Given the description of an element on the screen output the (x, y) to click on. 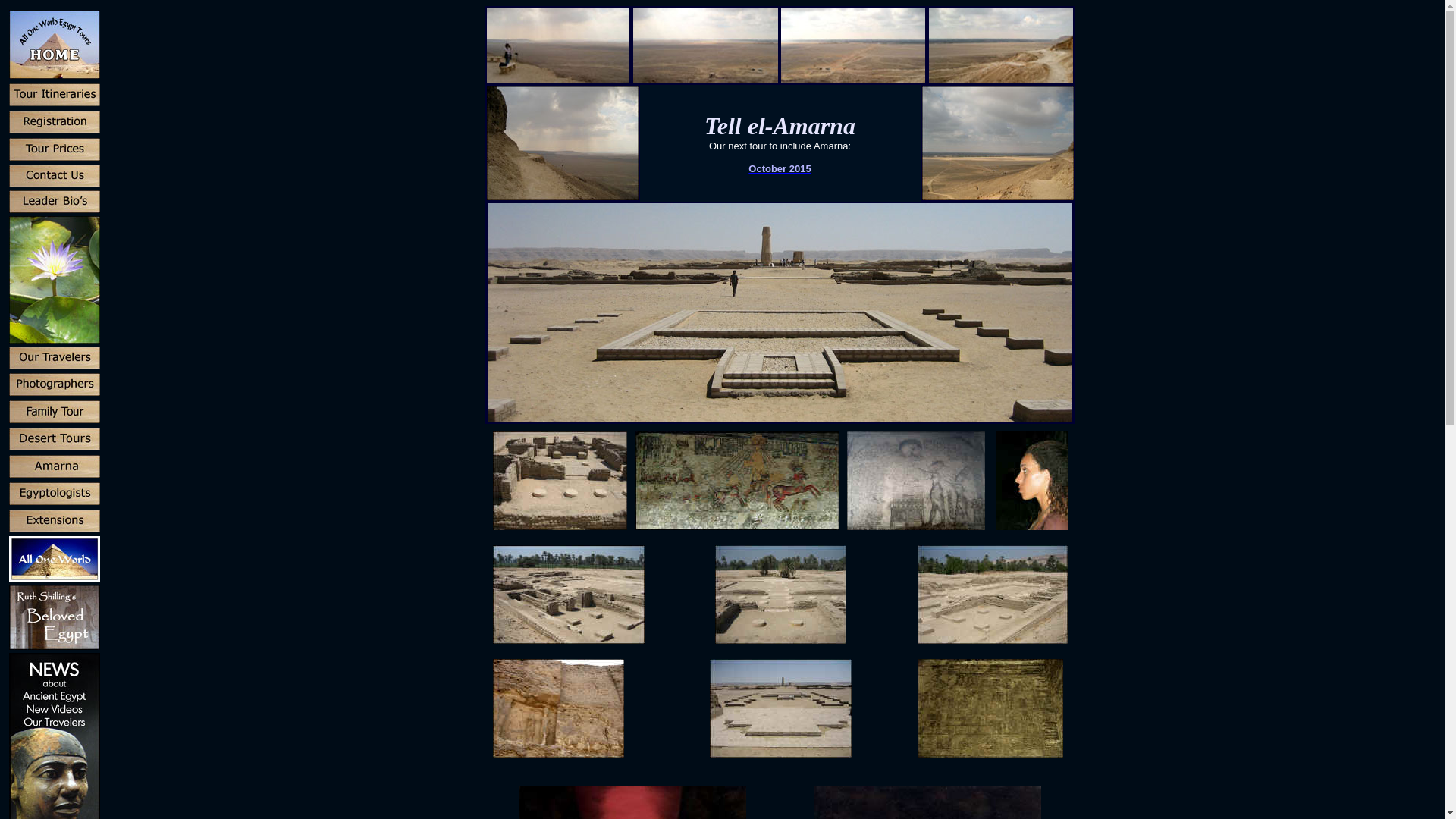
October 2015 Element type: text (779, 167)
